Given the description of an element on the screen output the (x, y) to click on. 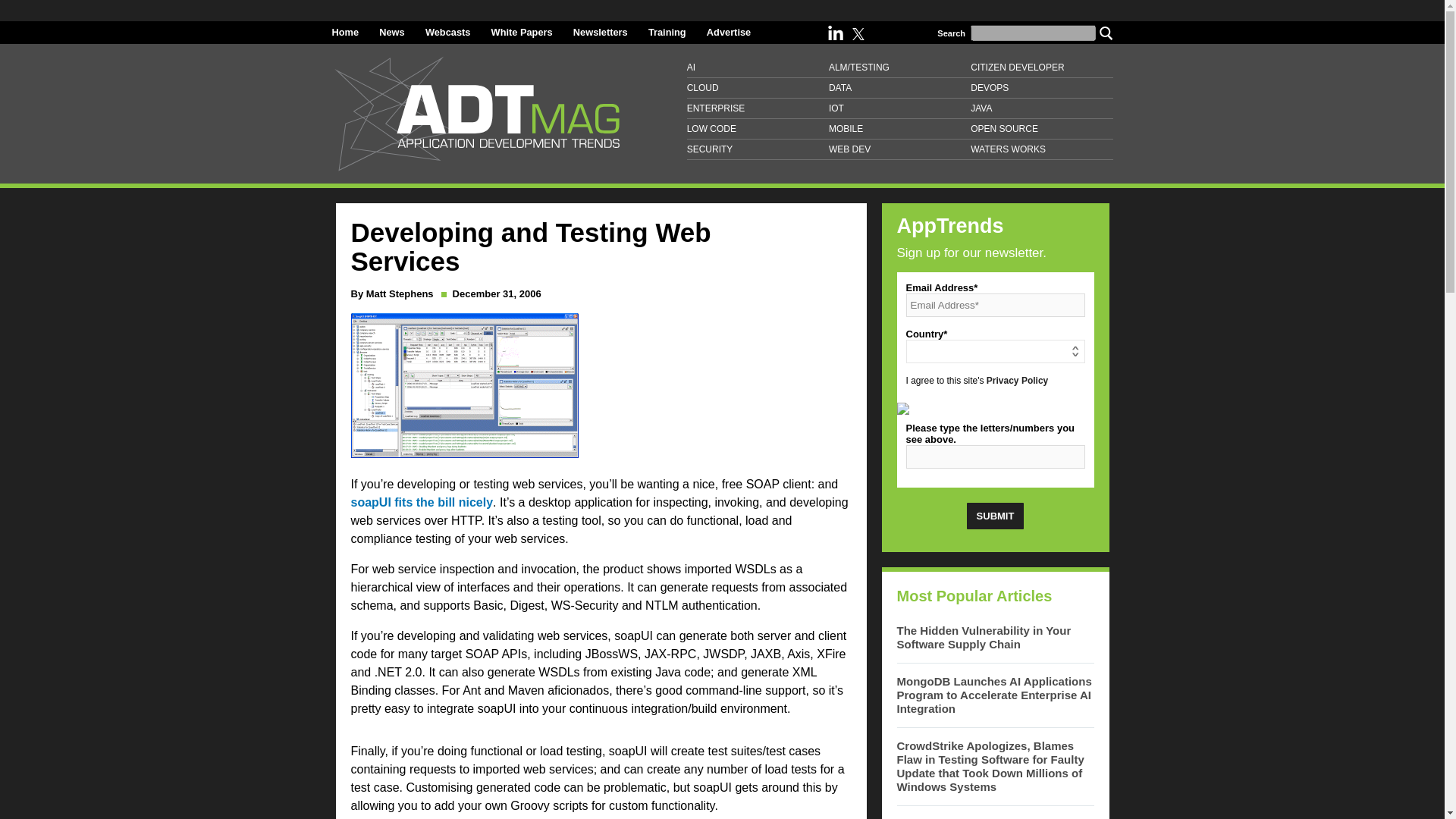
DEVOPS (1041, 87)
Search (1106, 32)
WATERS WORKS (1041, 149)
Newsletters (600, 31)
SECURITY (757, 149)
LOW CODE (757, 128)
Webcasts (447, 31)
OPEN SOURCE (1041, 128)
JAVA (1041, 108)
CITIZEN DEVELOPER (1041, 67)
News (391, 31)
ENTERPRISE (757, 108)
AI (757, 67)
Advertise (728, 31)
IOT (899, 108)
